Given the description of an element on the screen output the (x, y) to click on. 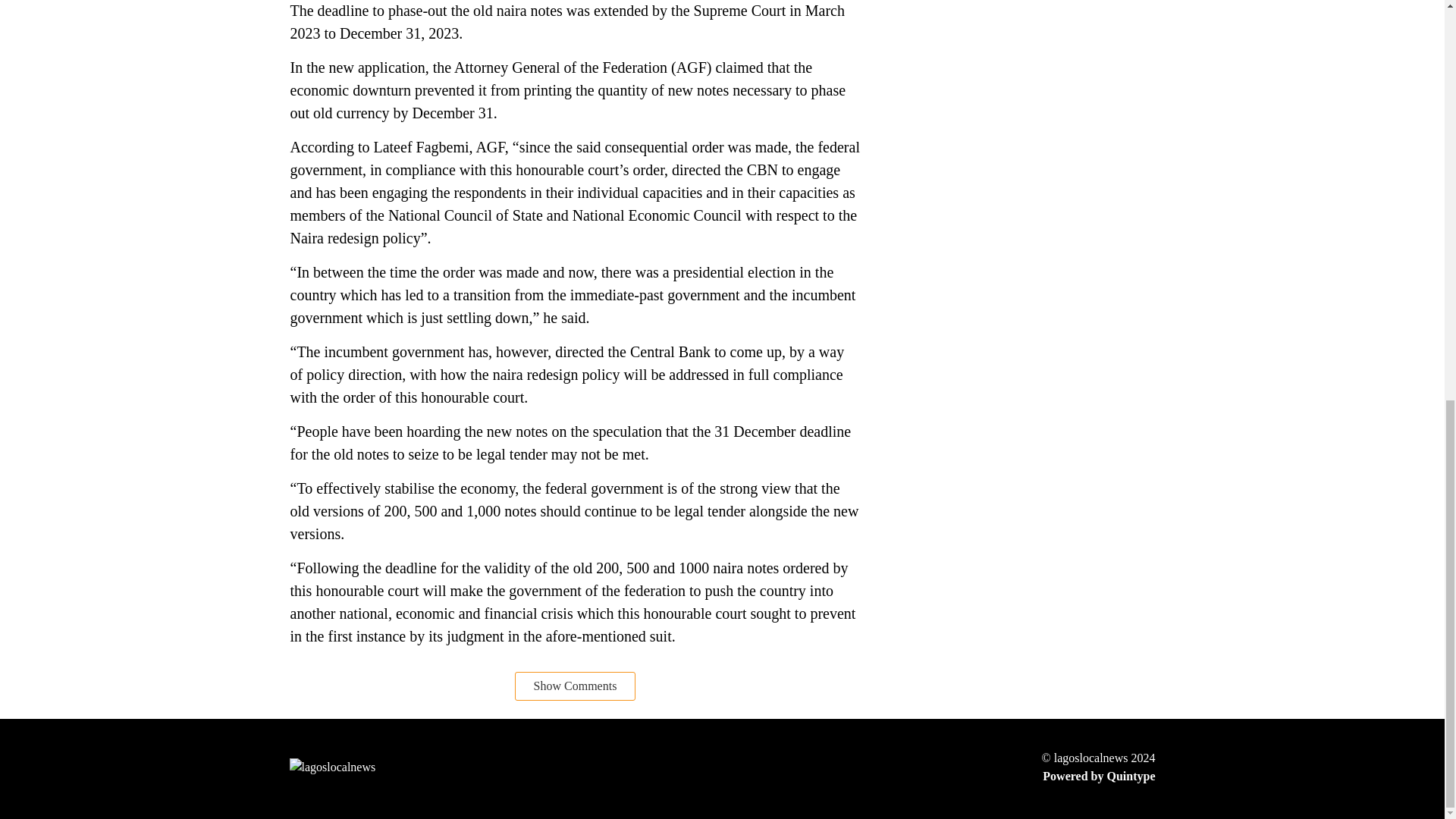
Show Comments (575, 686)
Powered by Quintype (1099, 776)
